Given the description of an element on the screen output the (x, y) to click on. 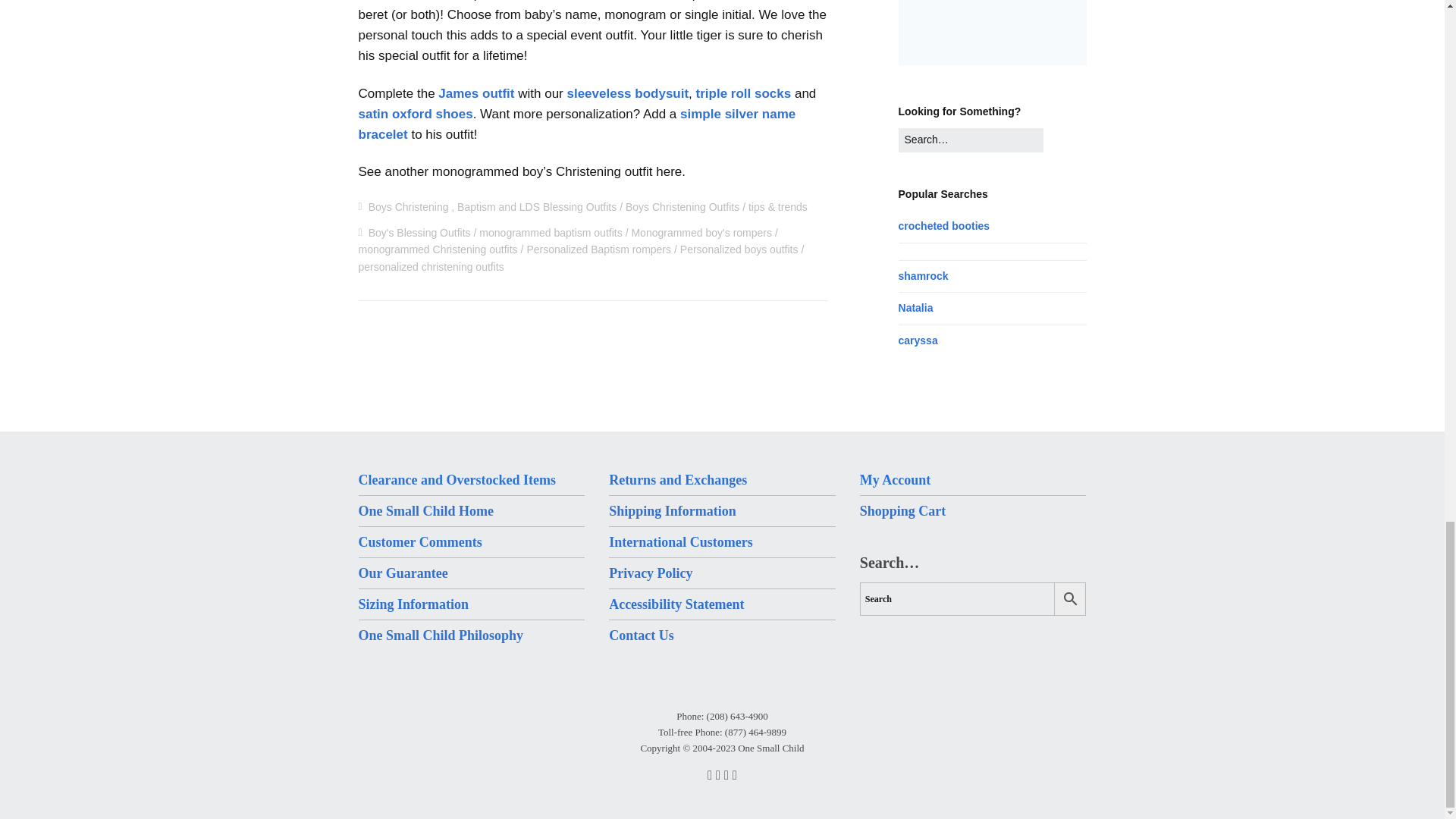
Press Enter to submit your search (970, 139)
